Given the description of an element on the screen output the (x, y) to click on. 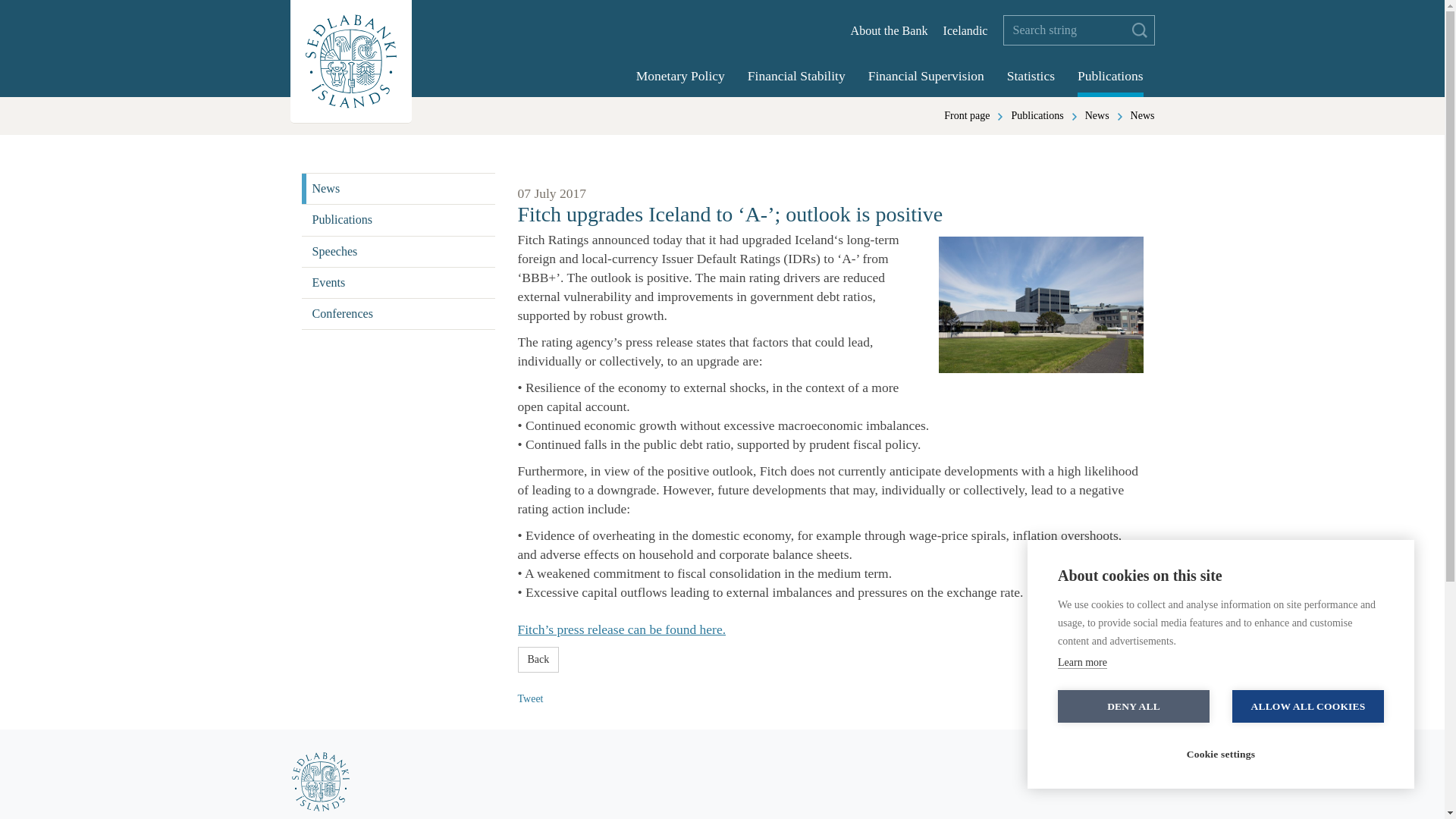
PageName (1036, 115)
Financial Supervision (925, 77)
Publications (1109, 77)
About the Bank (889, 30)
Central Bank of Iceland (1040, 304)
Icelandic (965, 30)
Frontpage (966, 115)
Opens in a new window (620, 629)
Statistics (1030, 77)
PageName (1096, 115)
